Given the description of an element on the screen output the (x, y) to click on. 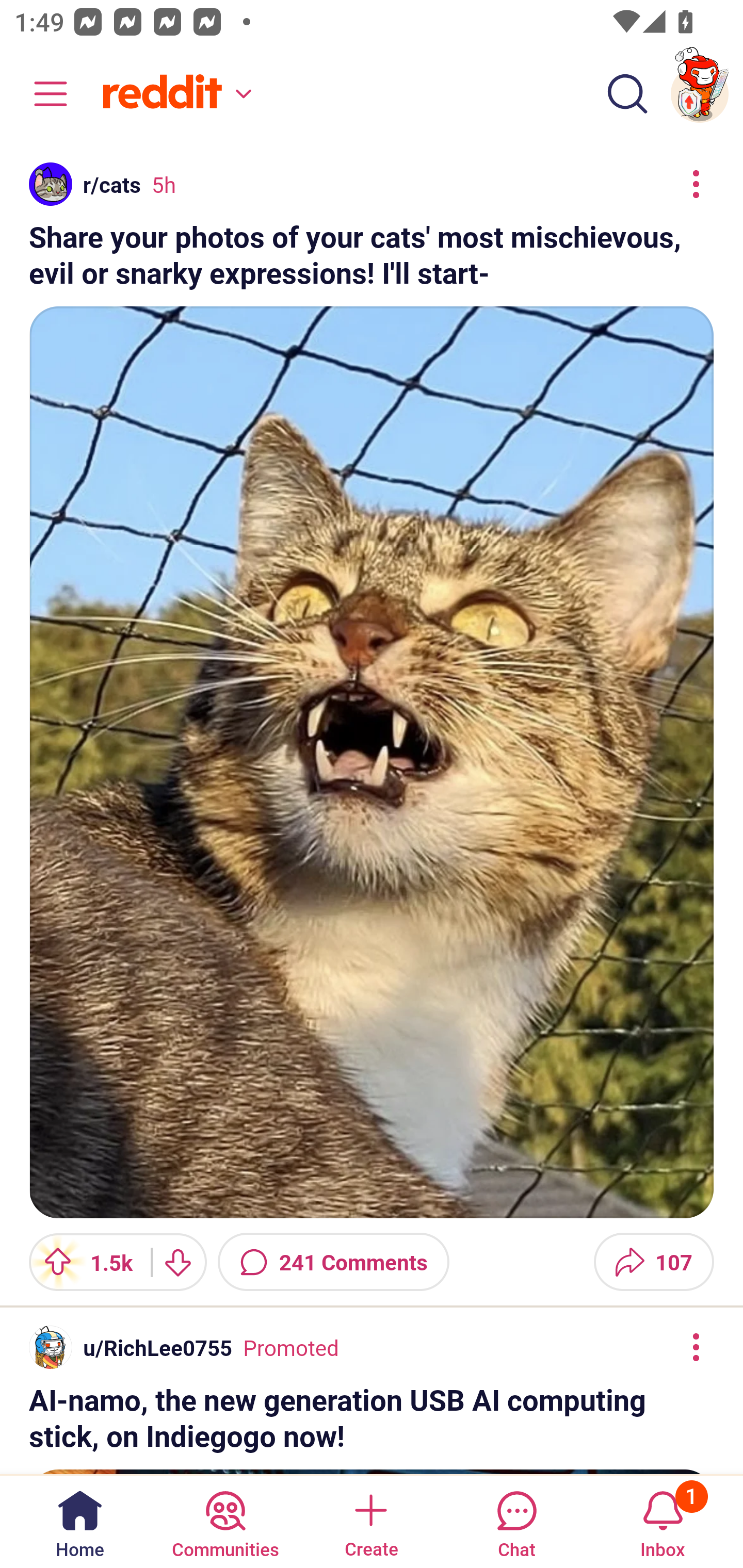
Search (626, 93)
TestAppium002 account (699, 93)
Community menu (41, 94)
Home feed (173, 94)
Home (80, 1520)
Communities (225, 1520)
Create a post Create (370, 1520)
Chat (516, 1520)
Inbox, has 1 notification 1 Inbox (662, 1520)
